Given the description of an element on the screen output the (x, y) to click on. 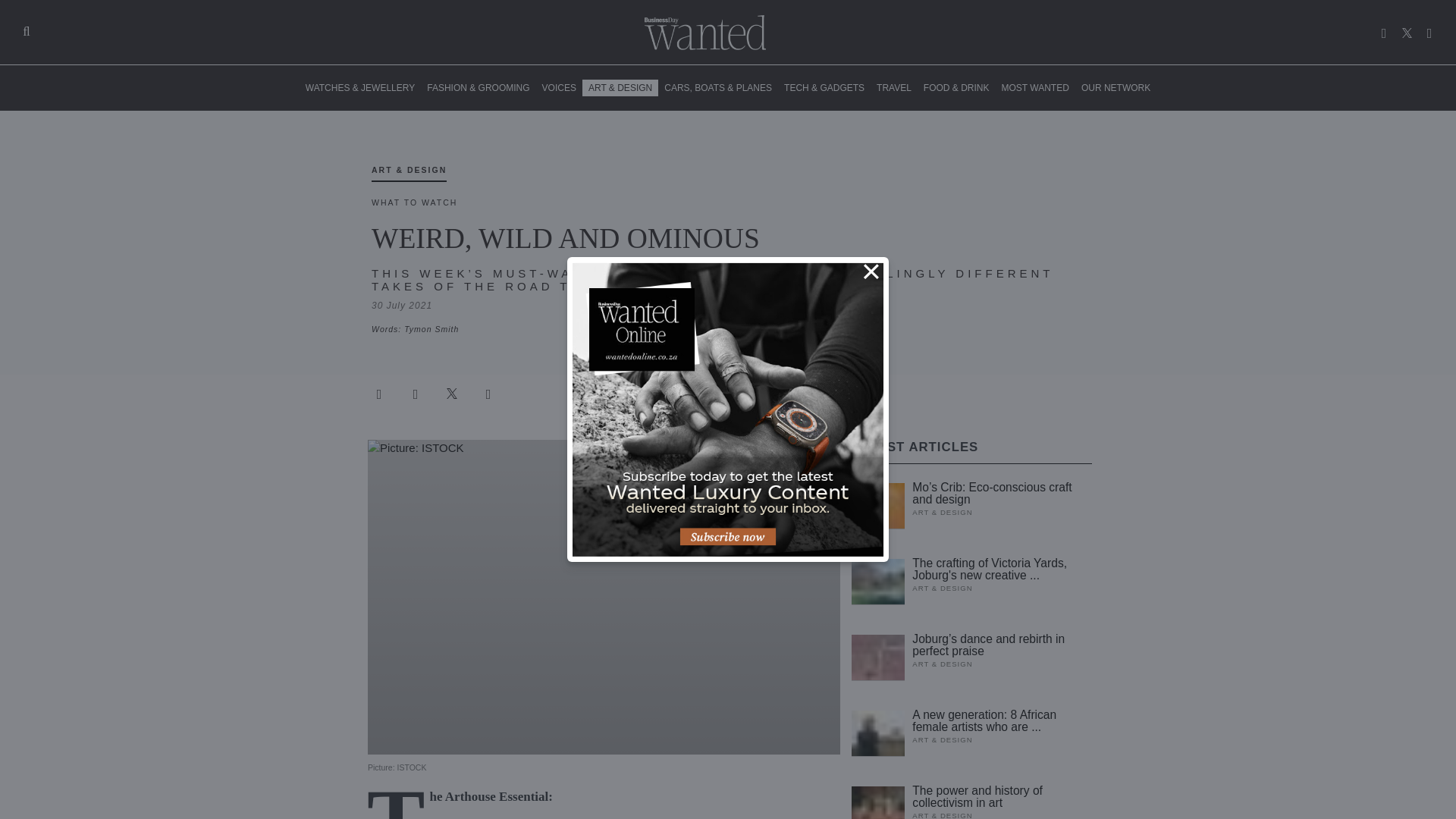
VOICES (558, 87)
MOST WANTED (1035, 87)
OUR NETWORK (1115, 87)
TRAVEL (893, 87)
